Given the description of an element on the screen output the (x, y) to click on. 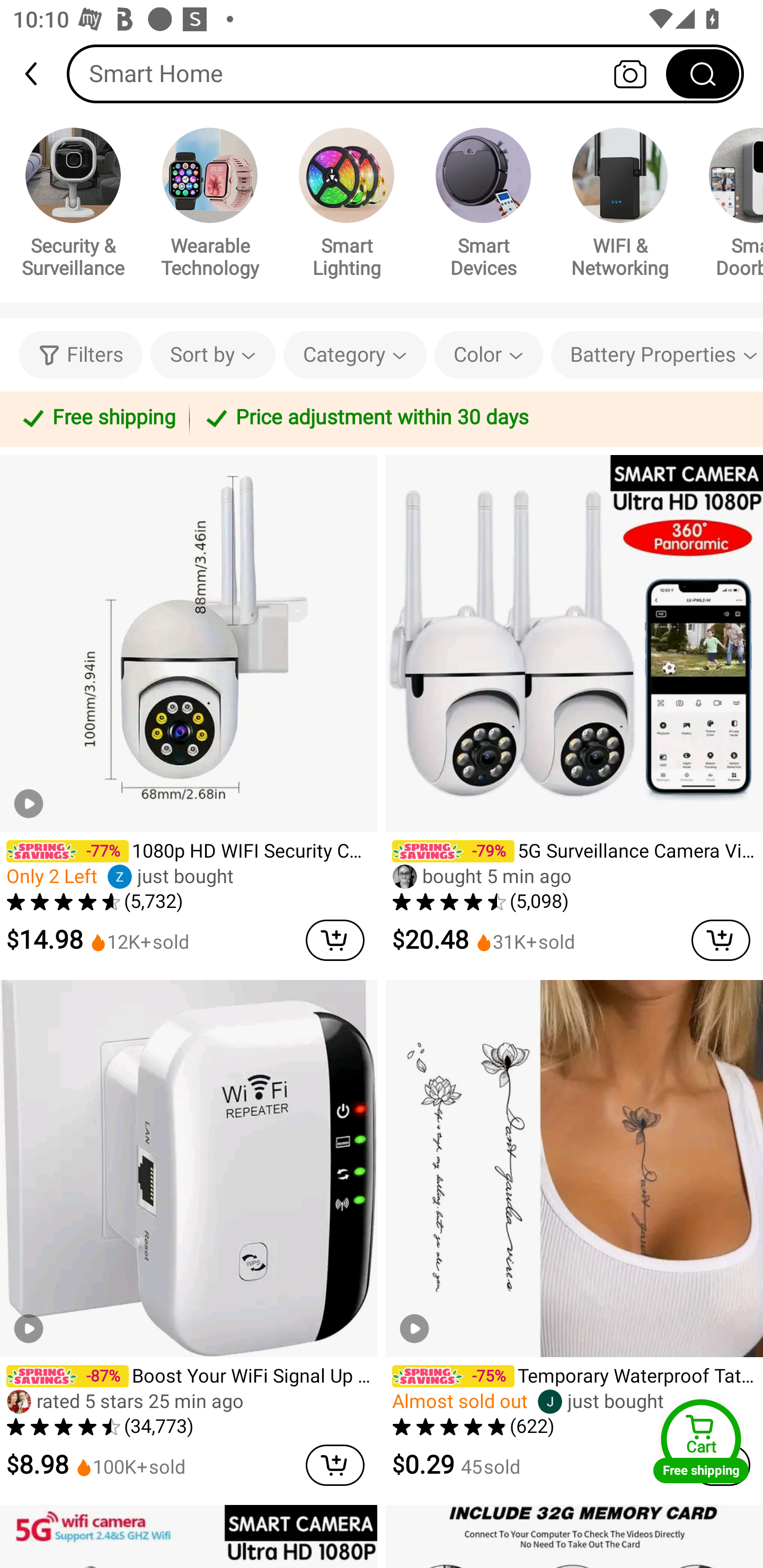
back (39, 73)
Smart Home (405, 73)
Security & Surveillance (73, 205)
Wearable Technology (209, 205)
Smart Lighting (346, 205)
Smart Devices (483, 205)
WIFI & Networking (619, 205)
Smart Doorbells (728, 205)
Filters (80, 354)
Sort by (212, 354)
Category (354, 354)
Color (488, 354)
Battery Properties (656, 354)
Free shipping (97, 418)
Price adjustment within 30 days (472, 418)
cart delete (334, 939)
cart delete (720, 939)
Cart Free shipping Cart (701, 1440)
cart delete (334, 1465)
